Given the description of an element on the screen output the (x, y) to click on. 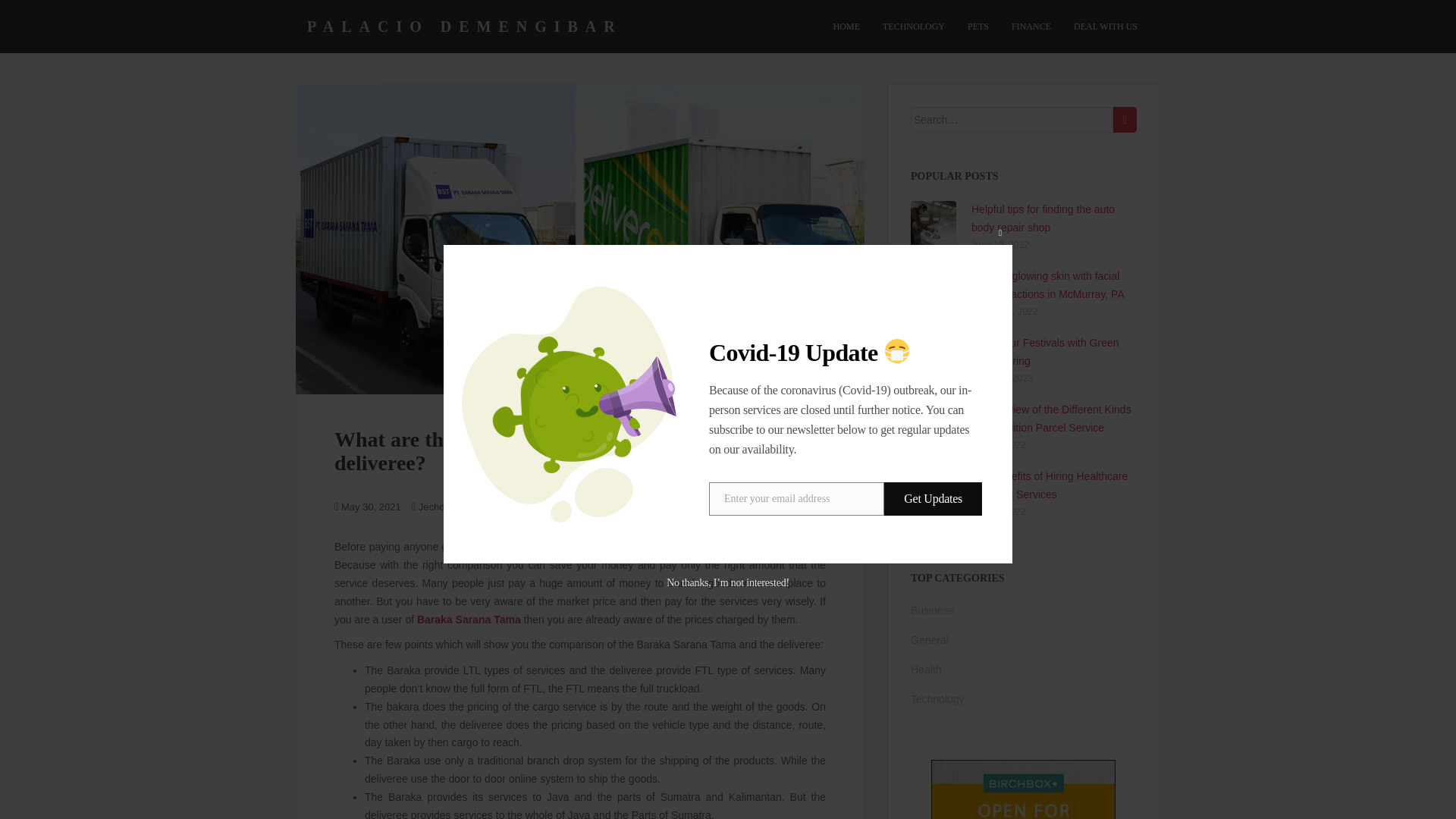
PETS (978, 26)
May 30, 2021 (370, 506)
CLOSE THIS MODULE (999, 232)
Get Updates (932, 498)
The Benefits of Hiring Healthcare Cleaning Services (1048, 485)
Jecholiah (439, 506)
Technology (937, 698)
HOME (846, 26)
General (494, 506)
TECHNOLOGY (913, 26)
Business (932, 610)
Health (925, 669)
FINANCE (1031, 26)
